Given the description of an element on the screen output the (x, y) to click on. 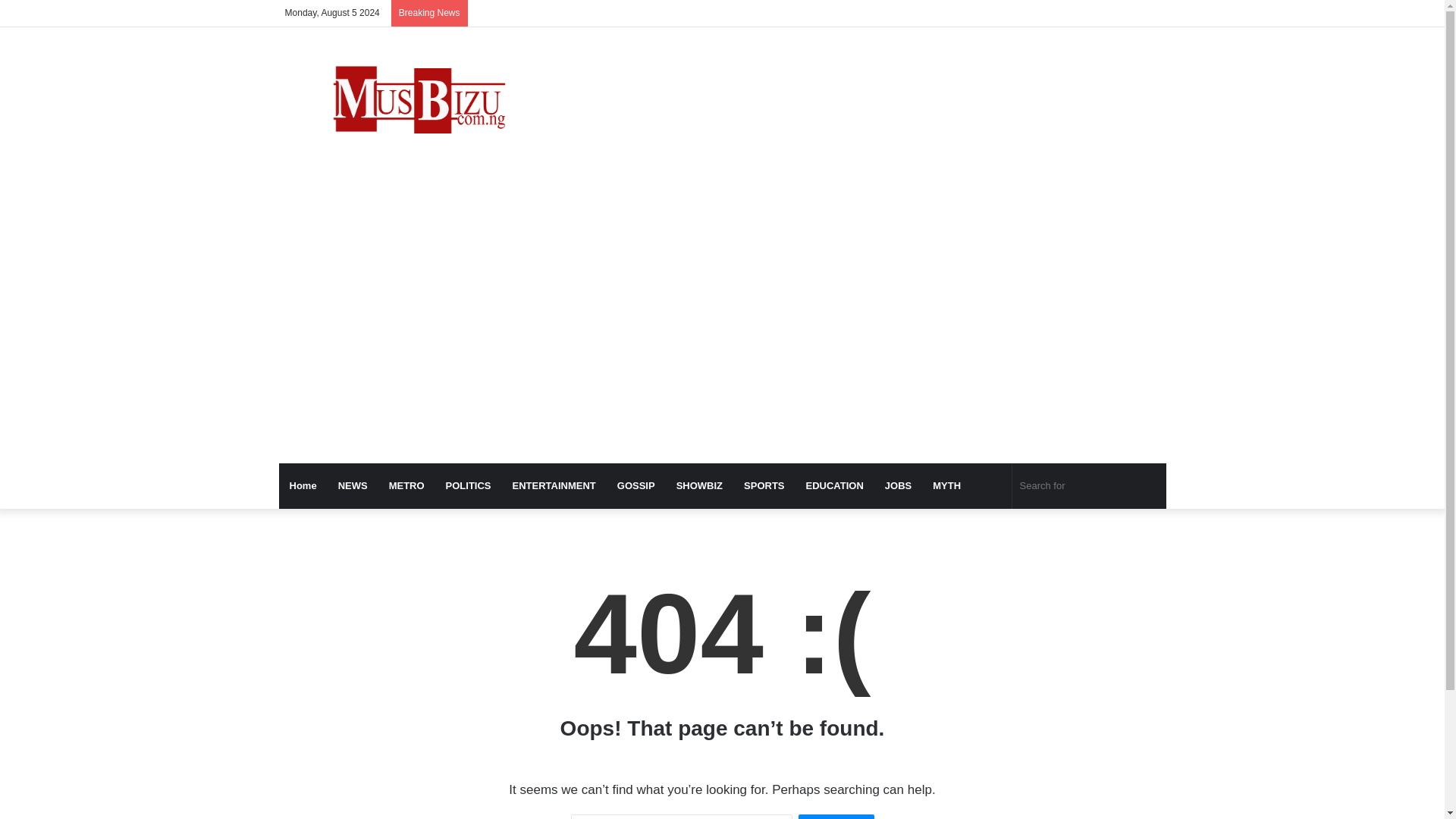
SHOWBIZ (699, 485)
METRO (406, 485)
POLITICS (468, 485)
Search (835, 816)
Search (835, 816)
Search for (1088, 485)
NEWS (352, 485)
Home (303, 485)
GOSSIP (636, 485)
SPORTS (763, 485)
JOBS (898, 485)
ENTERTAINMENT (554, 485)
MYTH (946, 485)
Musbizu (419, 103)
